Given the description of an element on the screen output the (x, y) to click on. 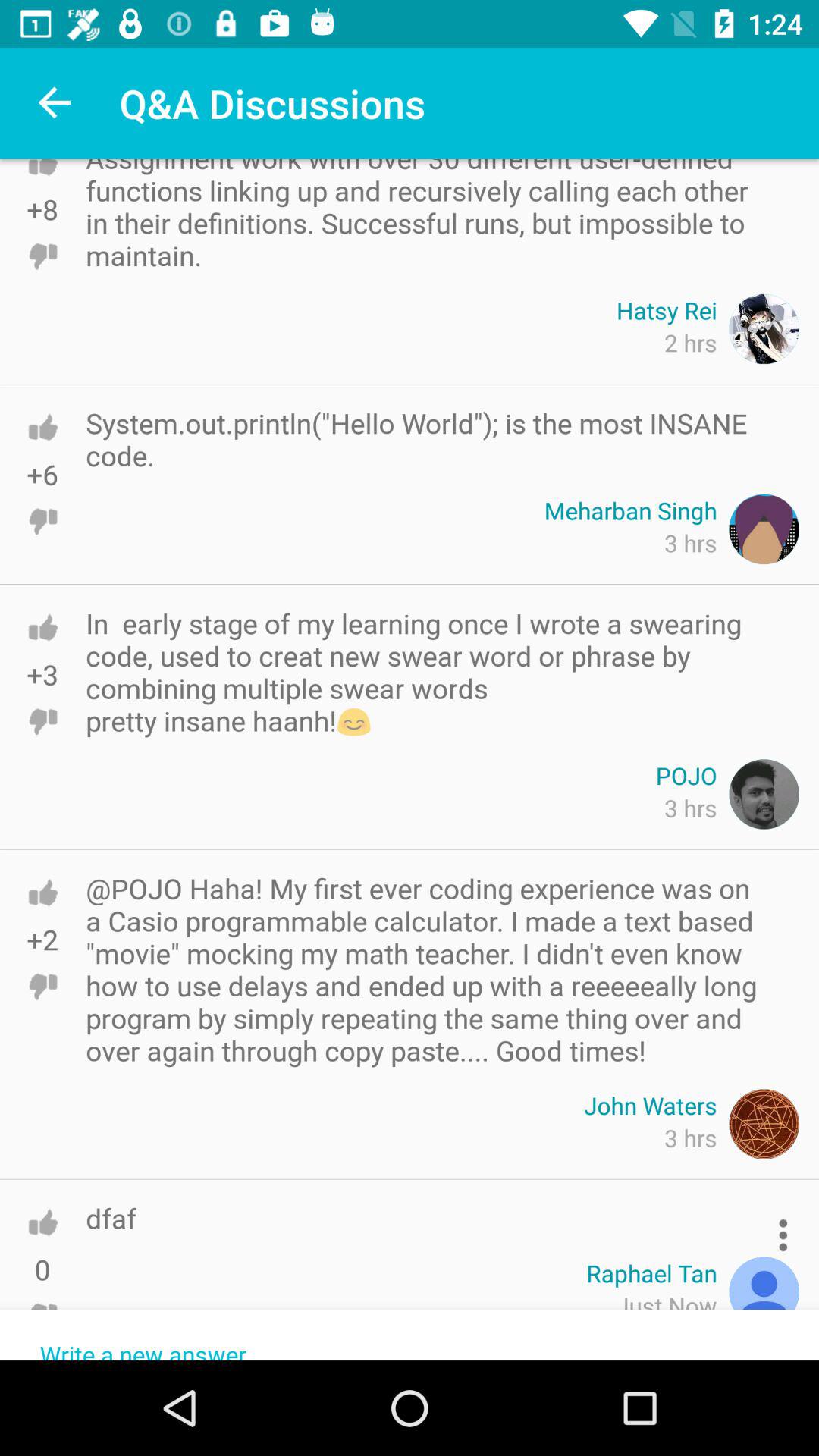
like the program (42, 892)
